Given the description of an element on the screen output the (x, y) to click on. 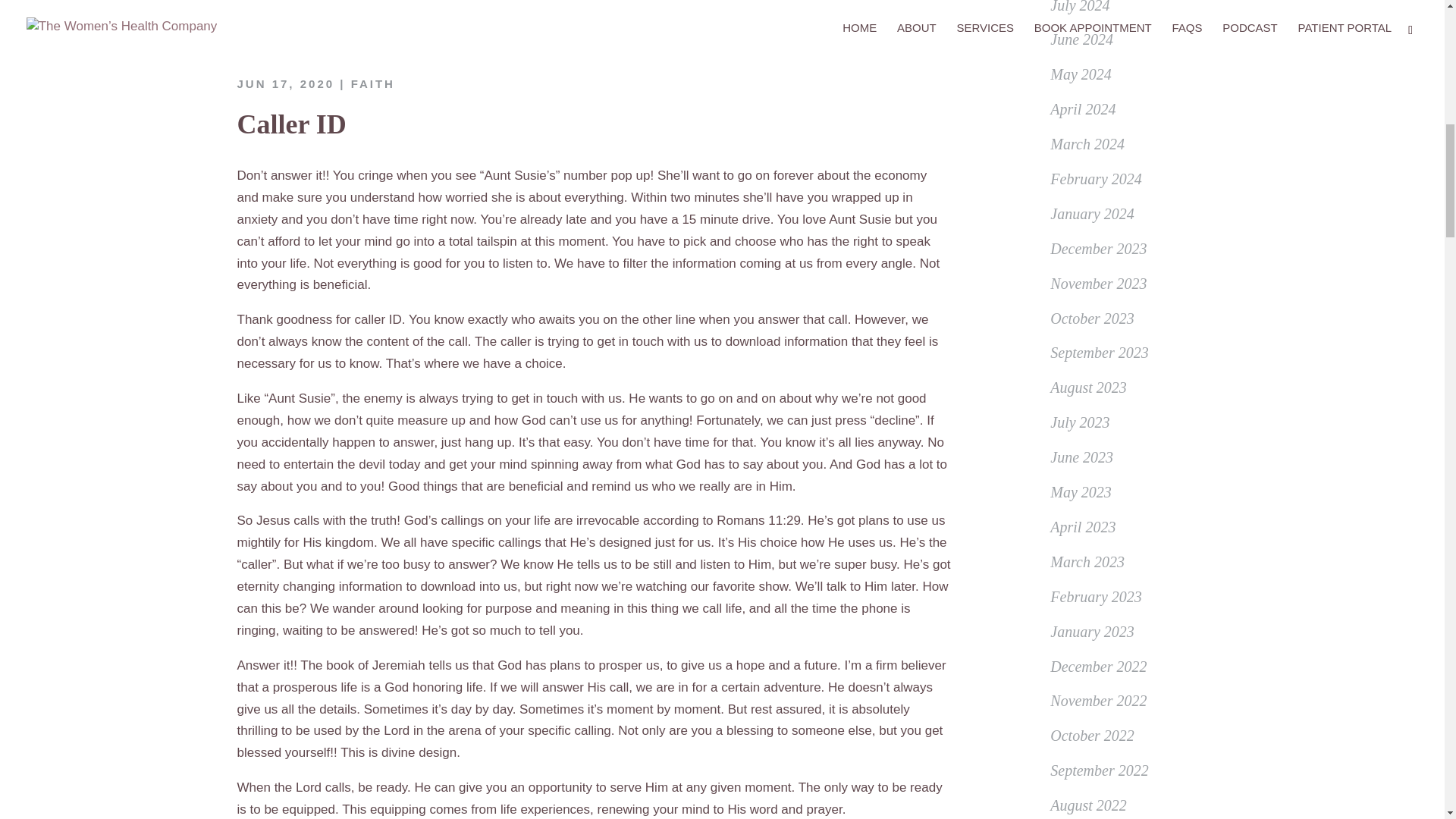
March 2024 (1086, 143)
April 2024 (1082, 108)
April 2023 (1082, 526)
July 2024 (1079, 6)
November 2023 (1098, 283)
May 2023 (1080, 492)
January 2024 (1091, 213)
June 2023 (1081, 457)
February 2023 (1095, 596)
May 2024 (1080, 74)
